Given the description of an element on the screen output the (x, y) to click on. 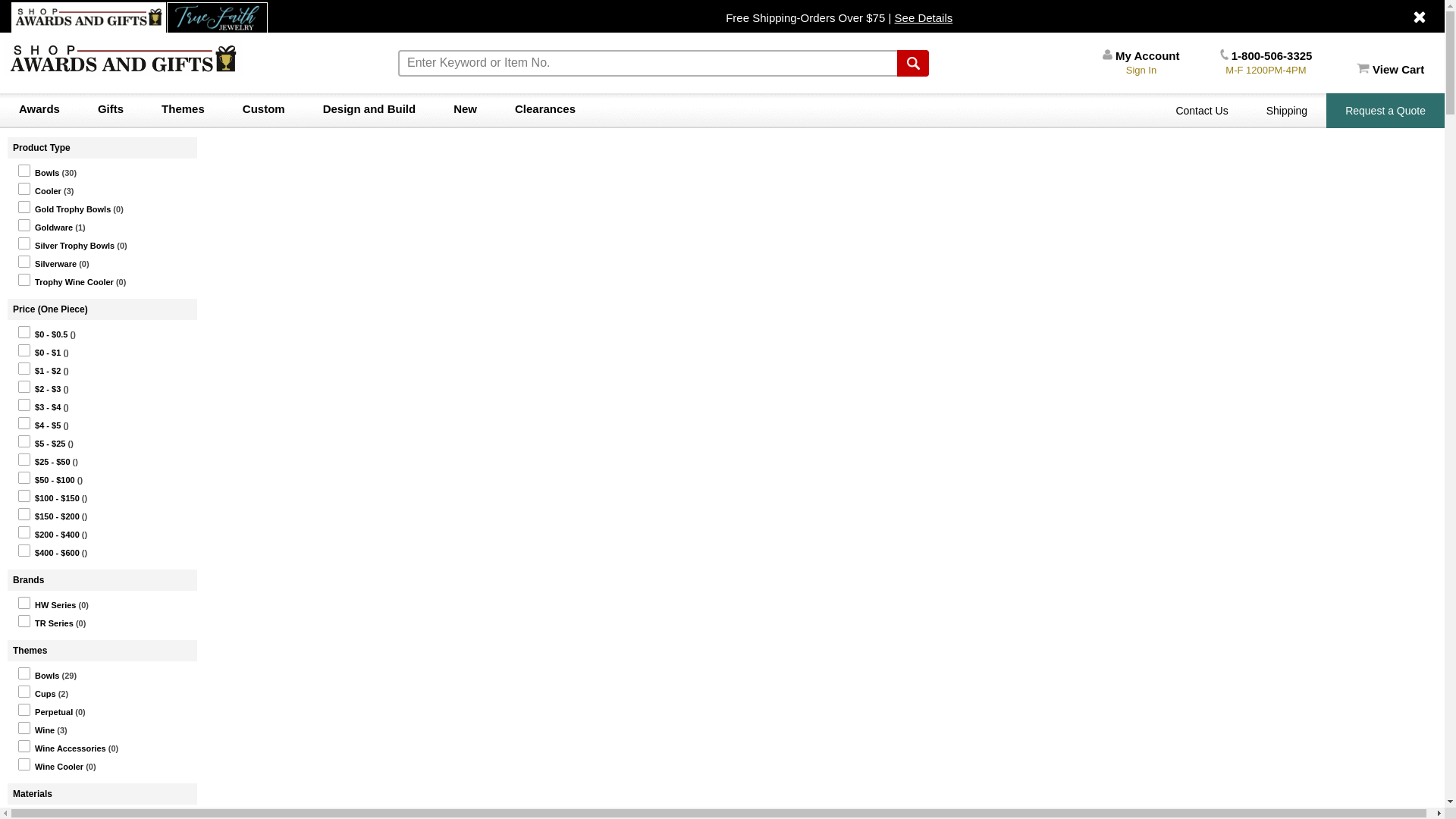
5 25 (22, 441)
trophy wine cooler (22, 280)
100 150 (22, 496)
2 3 (22, 387)
cooler (22, 189)
Design and Build (369, 108)
Contact Us (1201, 110)
50 100 (22, 478)
25 50 (22, 460)
Shipping (1286, 110)
goldware (22, 225)
150 200 (22, 514)
1-800-506-3325 (1265, 55)
1 2 (22, 368)
Awards (39, 108)
